Given the description of an element on the screen output the (x, y) to click on. 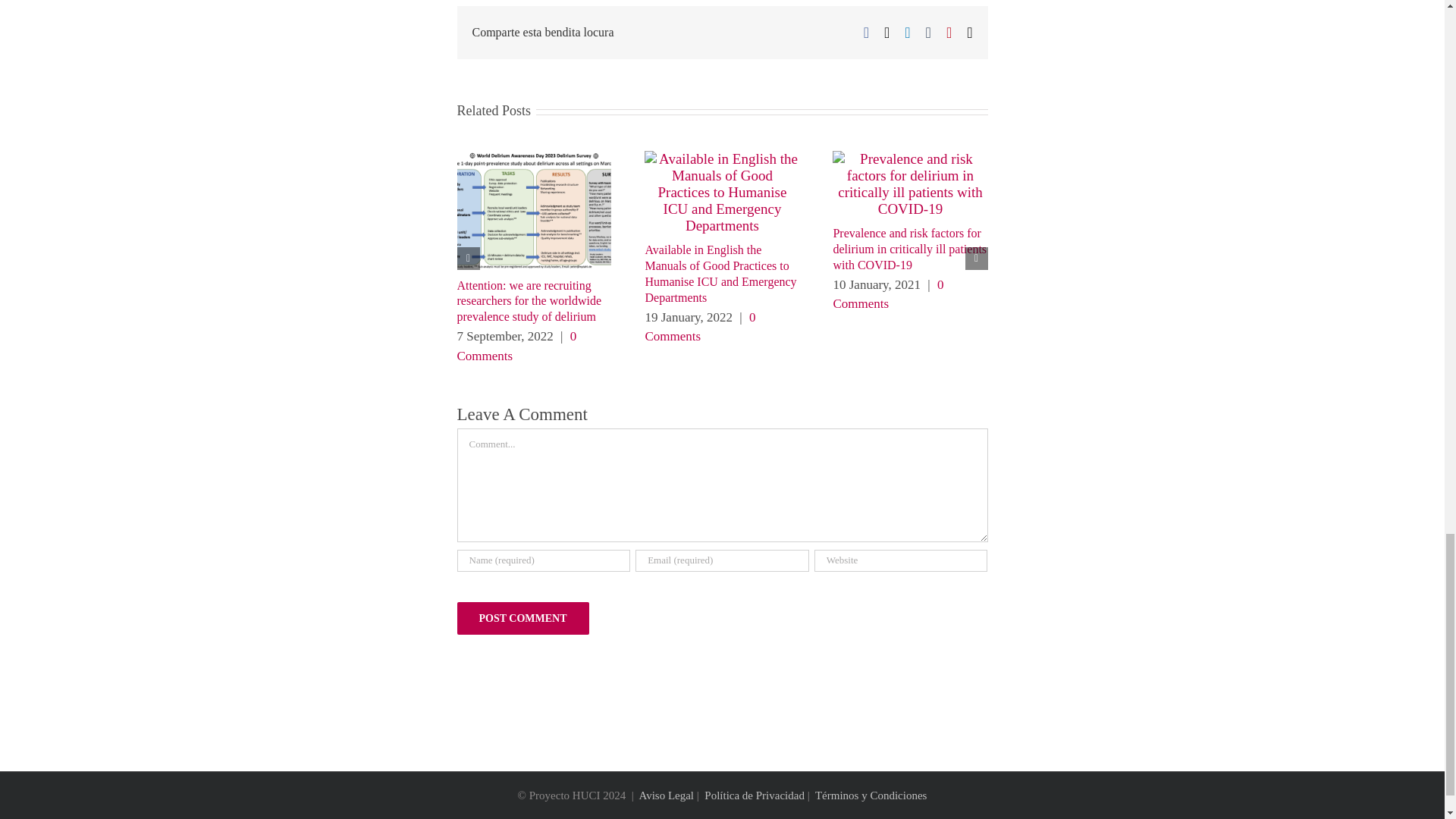
Post Comment (522, 617)
